Given the description of an element on the screen output the (x, y) to click on. 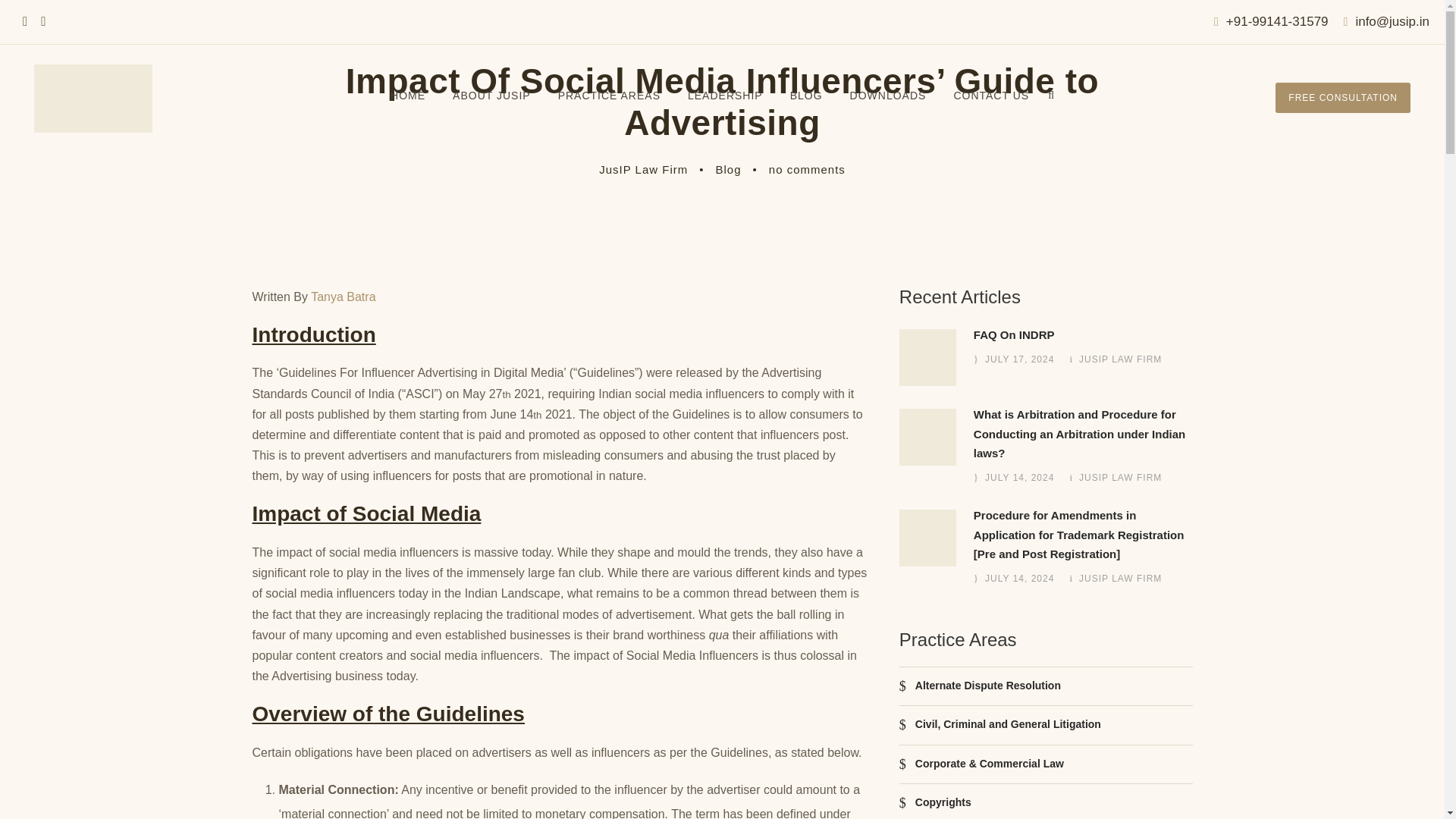
Trademark-filling (927, 537)
PRACTICE AREAS (609, 105)
arbitration (927, 437)
facebook (25, 21)
Posts by JusIP Law Firm (1119, 477)
ABOUT JUSIP (491, 105)
linkedin (42, 21)
Posts by JusIP Law Firm (642, 169)
HOME (407, 105)
Posts by JusIP Law Firm (1119, 358)
Posts by JusIP Law Firm (1119, 578)
INDRP (927, 357)
